Given the description of an element on the screen output the (x, y) to click on. 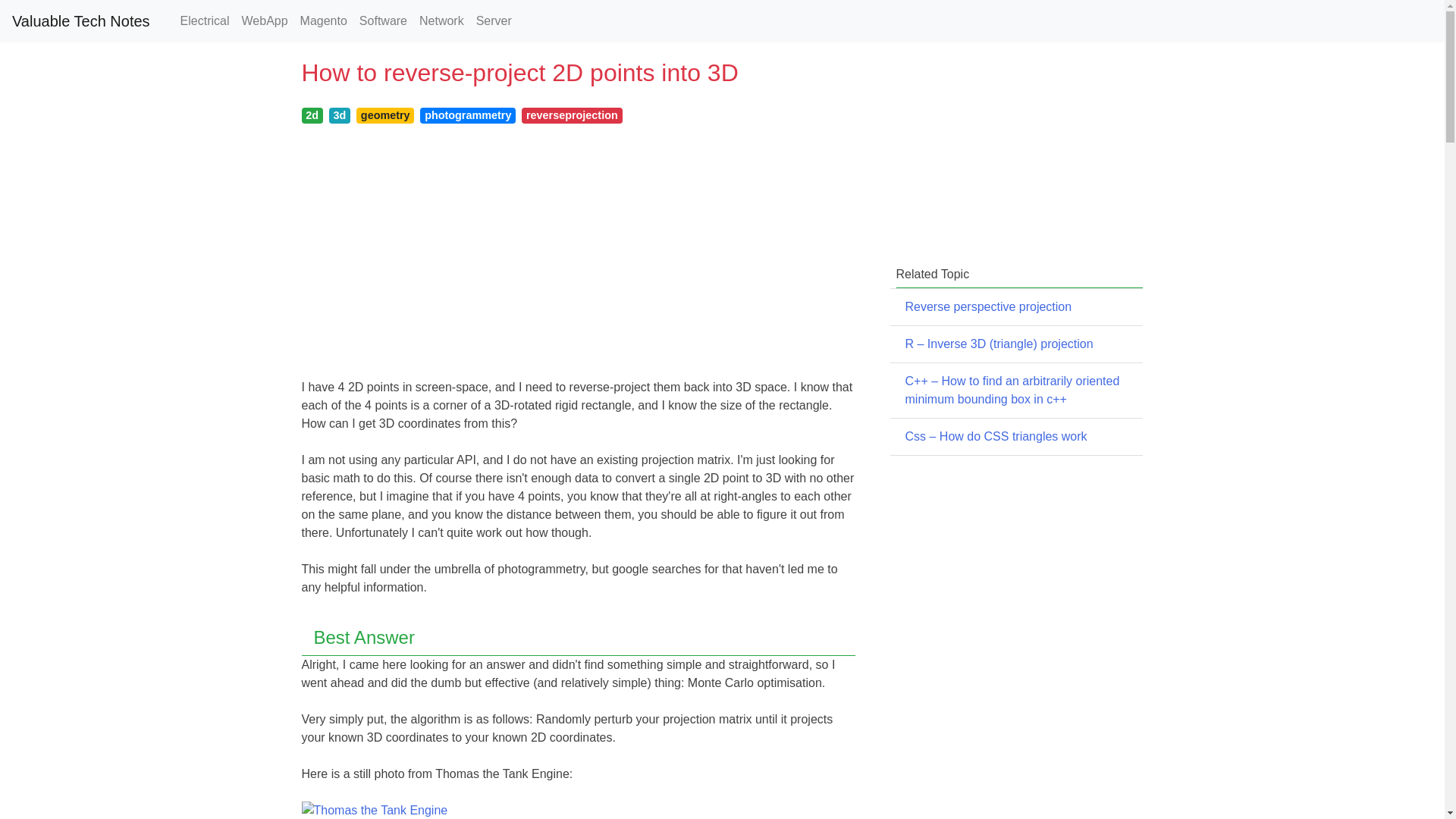
WebApp (264, 20)
Valuable Tech Notes (80, 20)
WebApp (264, 20)
Magento (323, 20)
Server (494, 20)
Network (441, 20)
Software (383, 20)
Network (441, 20)
Advertisement (1009, 148)
Reverse perspective projection (988, 306)
Server (494, 20)
Software (383, 20)
Advertisement (1009, 561)
Magento (323, 20)
Electrical (204, 20)
